Given the description of an element on the screen output the (x, y) to click on. 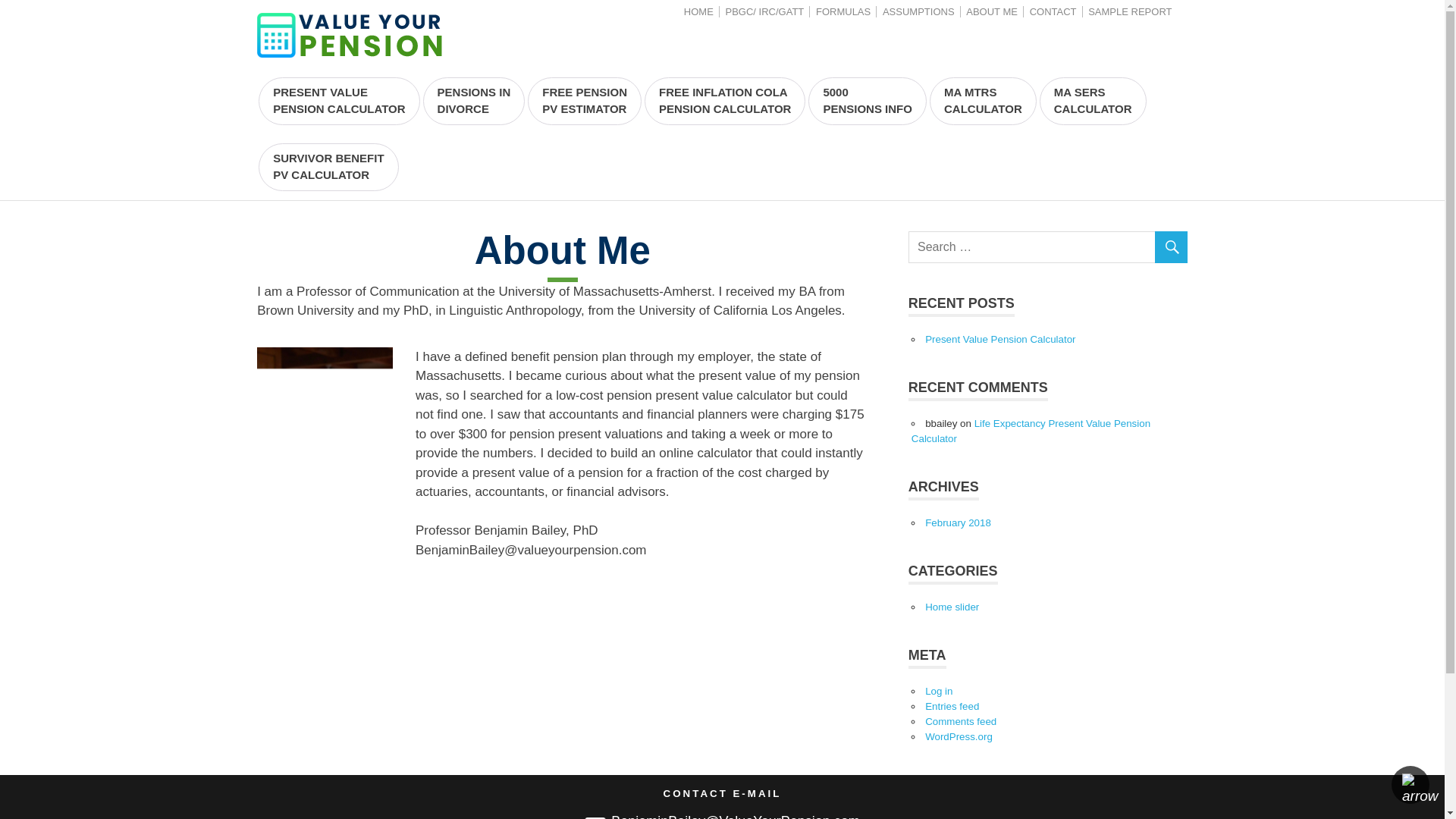
WordPress.org (958, 736)
Comments feed (959, 721)
Search for: (1048, 246)
ASSUMPTIONS (918, 11)
ABOUT ME (991, 11)
February 2018 (328, 166)
Life Expectancy Present Value Pension Calculator (983, 100)
CONTACT (957, 522)
Entries feed (1030, 430)
SAMPLE REPORT (474, 100)
